Given the description of an element on the screen output the (x, y) to click on. 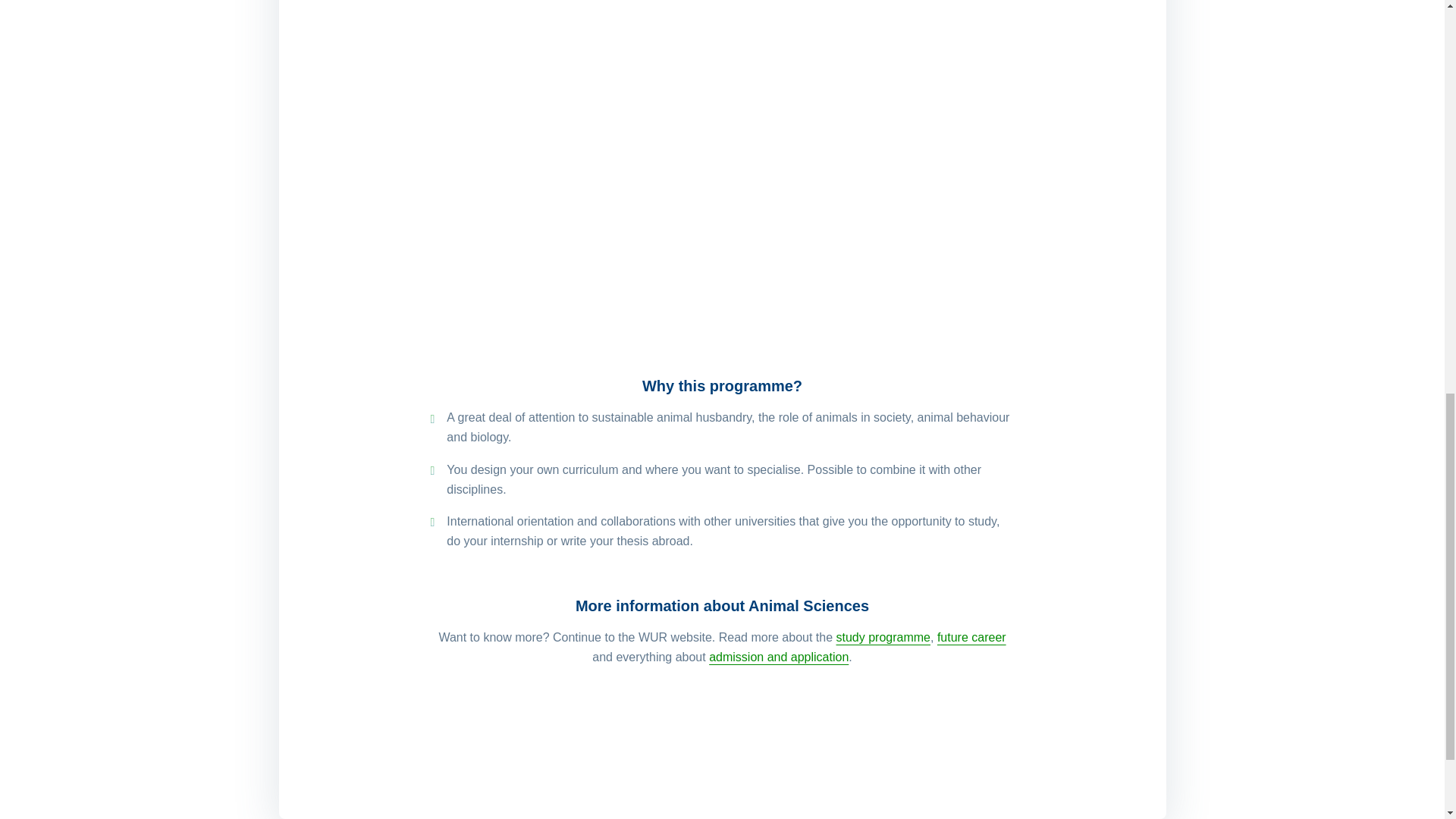
admission and application (778, 656)
study programme (882, 636)
future career (971, 636)
